Given the description of an element on the screen output the (x, y) to click on. 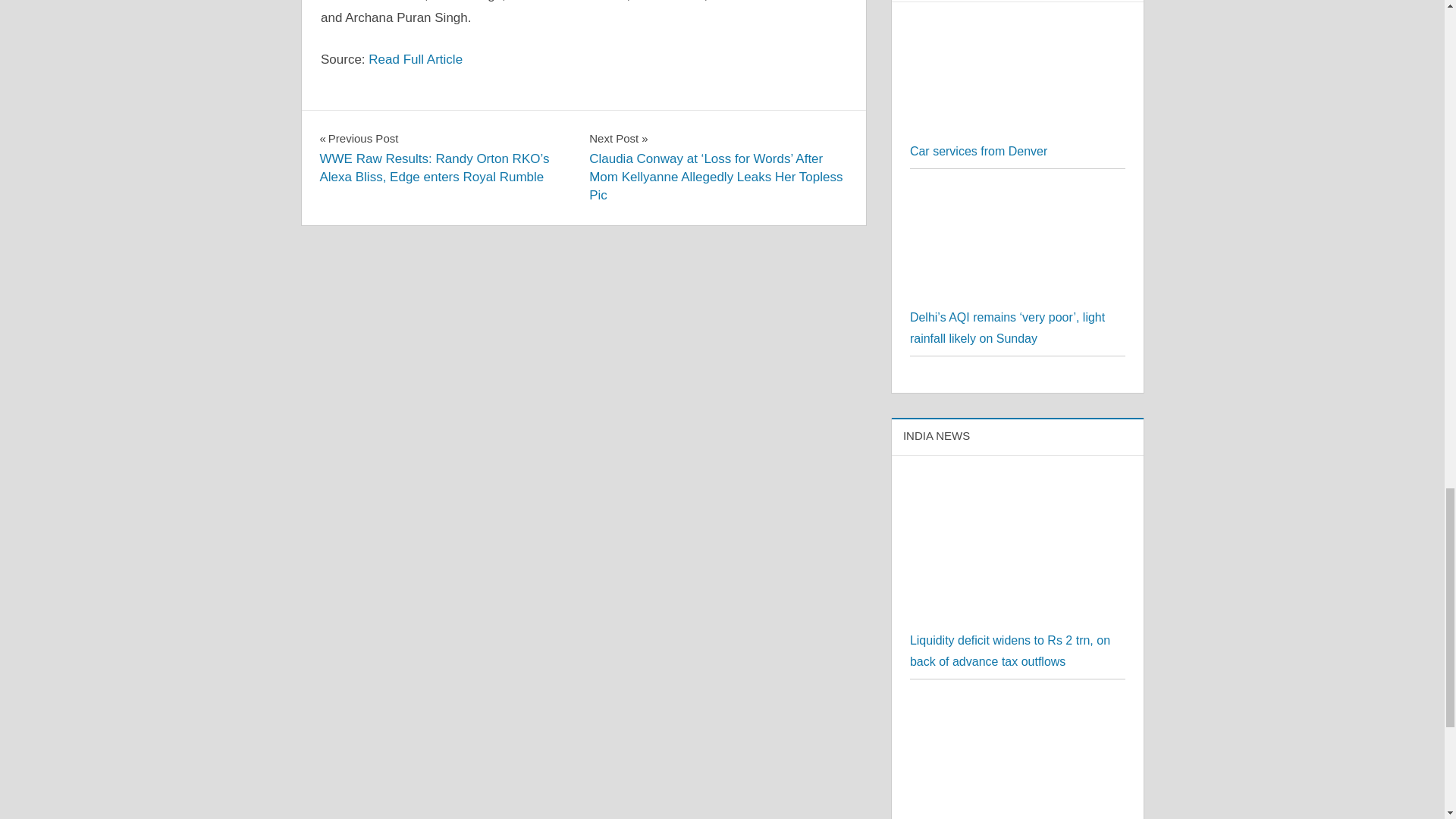
Bitcoin Beats Equities, Gold In 2023! (1017, 707)
Bitcoin Beats Equities, Gold In 2023! (1017, 758)
Read Full Article (415, 59)
Car services from Denver (1017, 129)
Car services from Denver (978, 151)
